Given the description of an element on the screen output the (x, y) to click on. 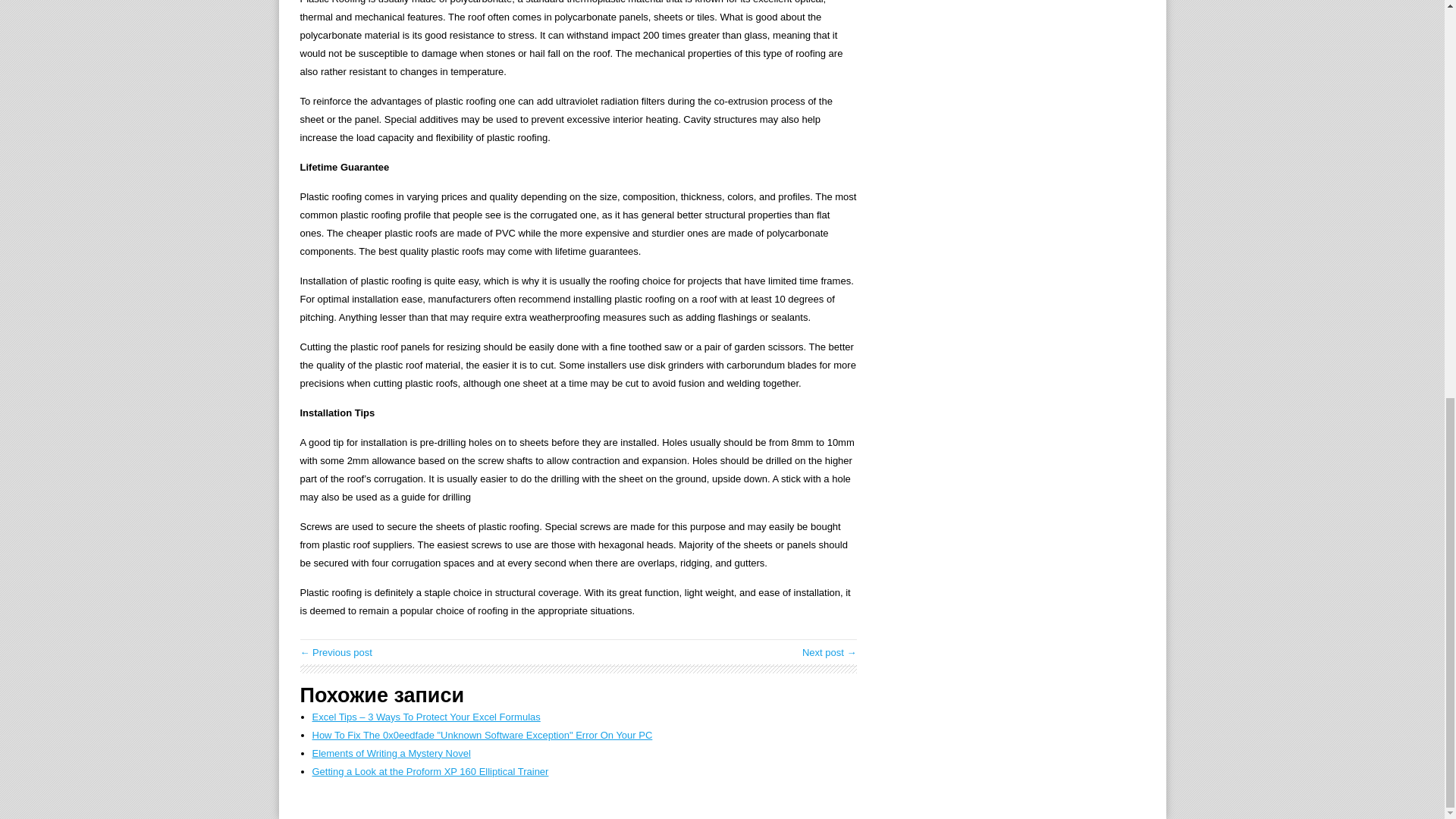
Slow Cookers - The Right Size Does Matter (829, 652)
Elements of Writing a Mystery Novel (391, 753)
Getting a Look at the Proform XP 160 Elliptical Trainer (430, 771)
